Given the description of an element on the screen output the (x, y) to click on. 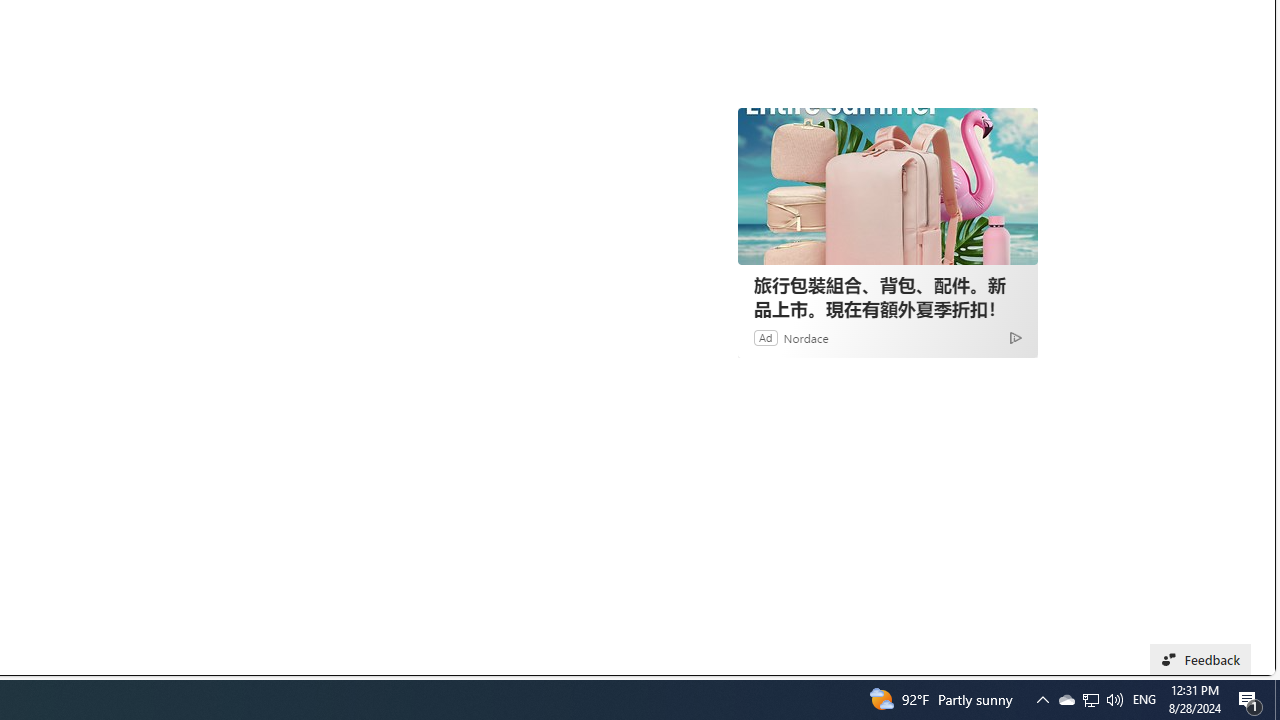
Ad Choice (1015, 336)
Feedback (1199, 659)
Ad (766, 337)
